Given the description of an element on the screen output the (x, y) to click on. 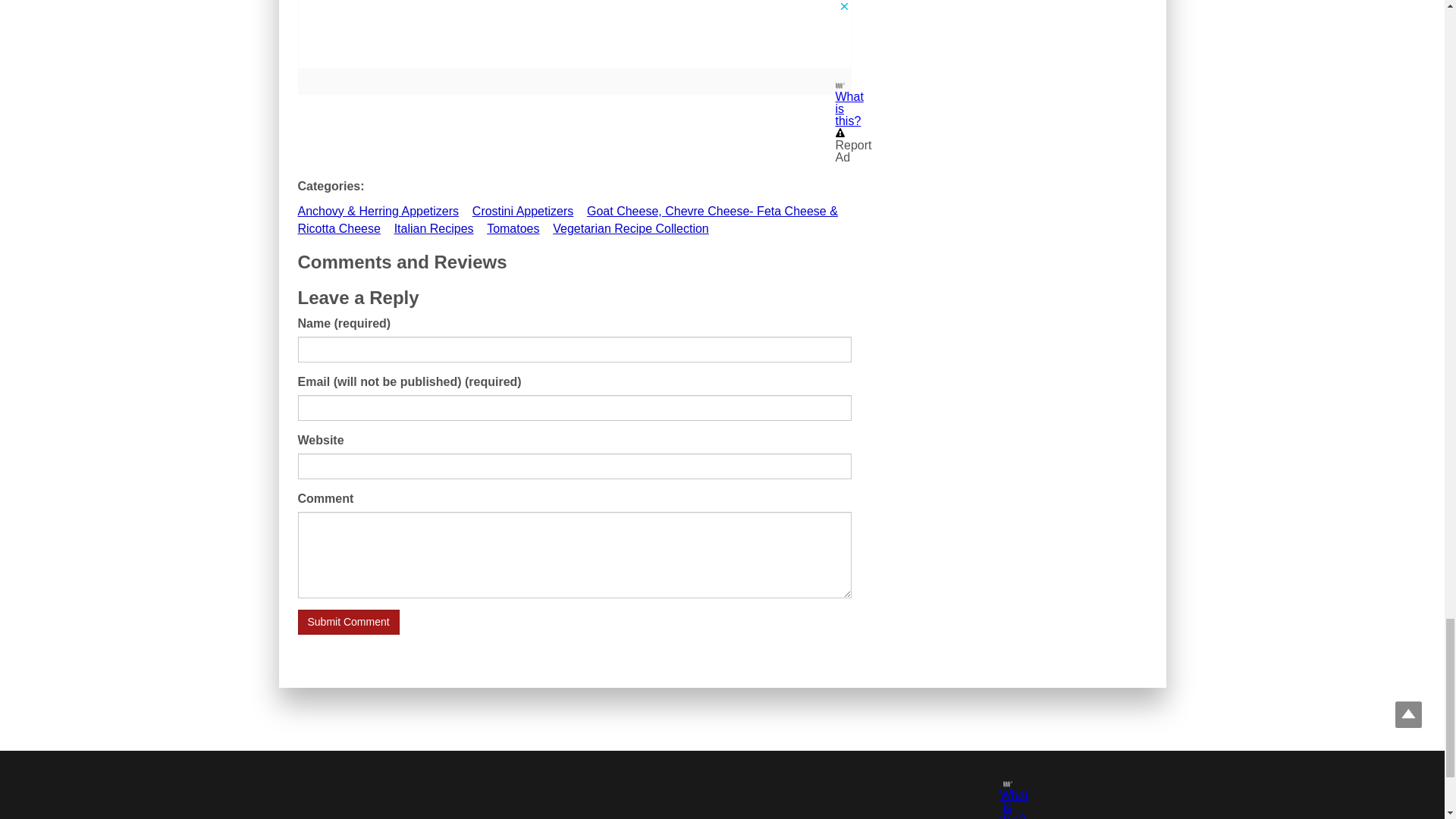
View all posts in Crostini Appetizers (522, 210)
View all posts in Italian Recipes (434, 228)
Submit Comment (347, 622)
View all posts in Tomatoes (512, 228)
View all posts in Vegetarian Recipe Collection (630, 228)
